Given the description of an element on the screen output the (x, y) to click on. 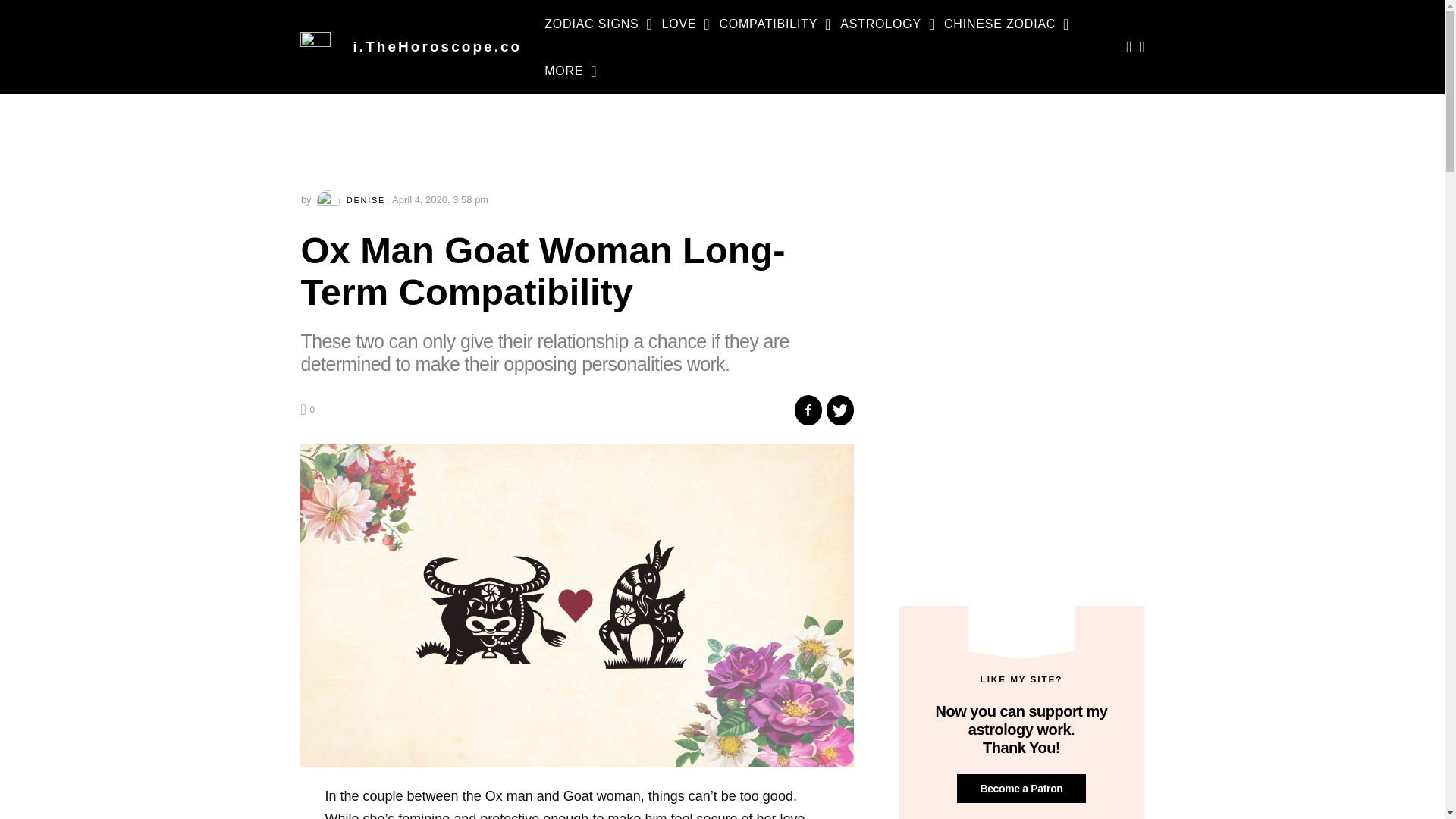
Posts by Denise (352, 199)
COMPATIBILITY (767, 23)
ZODIAC SIGNS (591, 23)
ASTROLOGY (880, 23)
i.TheHoroscope.co (437, 46)
